Given the description of an element on the screen output the (x, y) to click on. 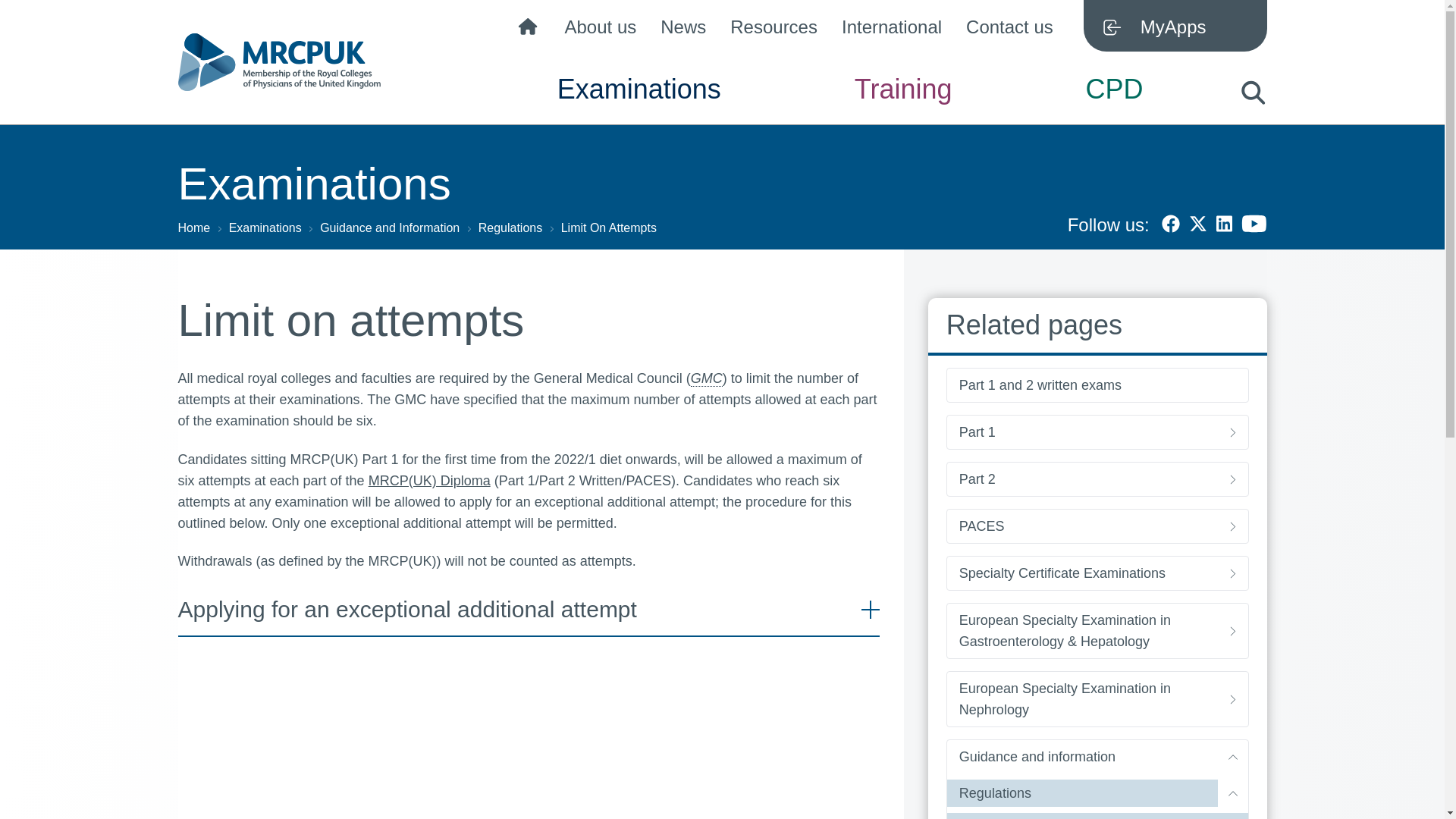
News (683, 30)
Contact us (1009, 30)
Examinations (638, 102)
About us (600, 30)
General Medical Council (706, 378)
Resources (773, 30)
International (891, 30)
